Given the description of an element on the screen output the (x, y) to click on. 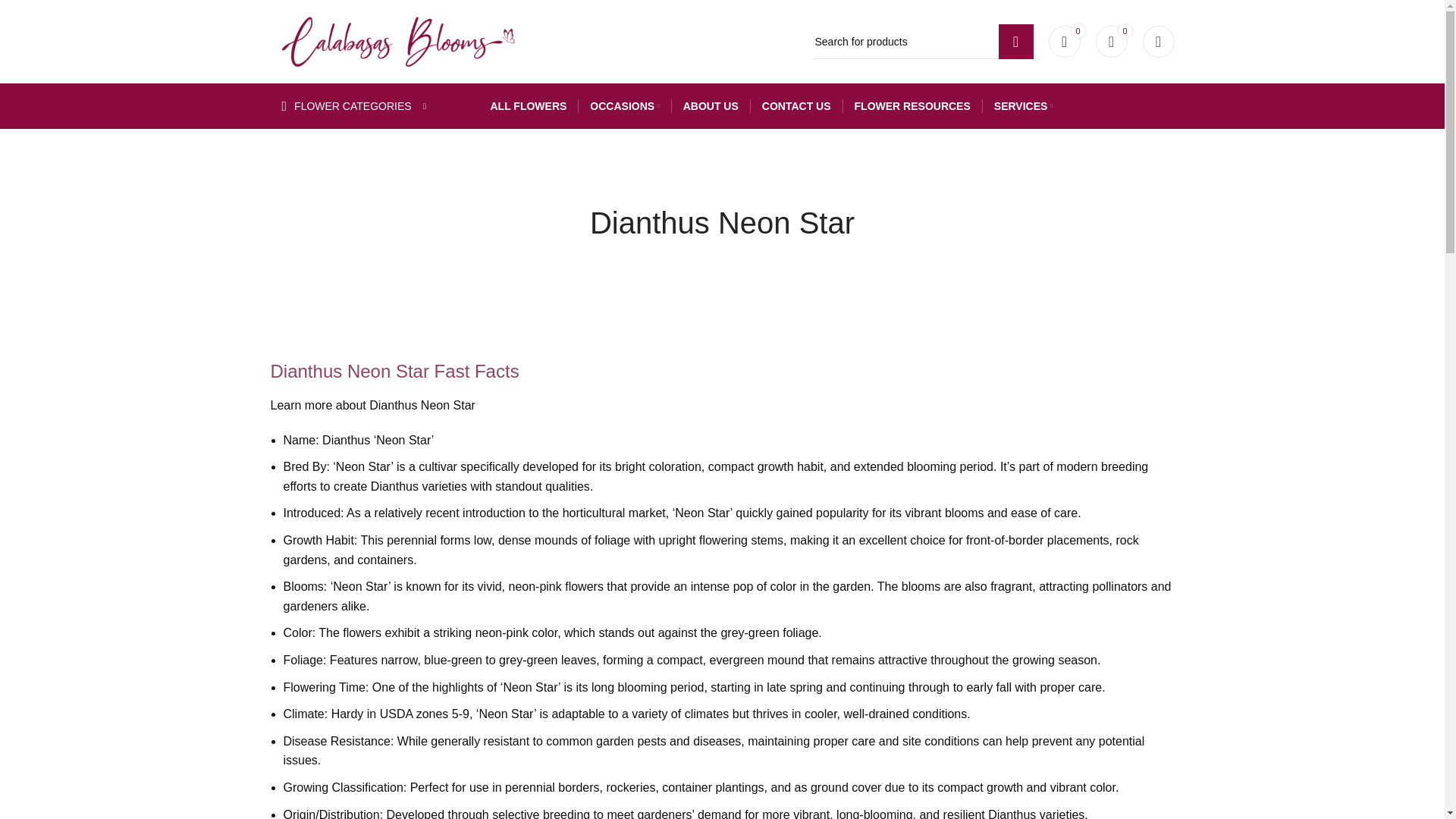
Search for products (922, 41)
FLOWER RESOURCES (912, 105)
Log in (1049, 290)
SERVICES (1023, 105)
My account (1157, 41)
0 (1064, 41)
My Wishlist (1064, 41)
SEARCH (1014, 41)
CONTACT US (796, 105)
OCCASIONS (624, 105)
